Given the description of an element on the screen output the (x, y) to click on. 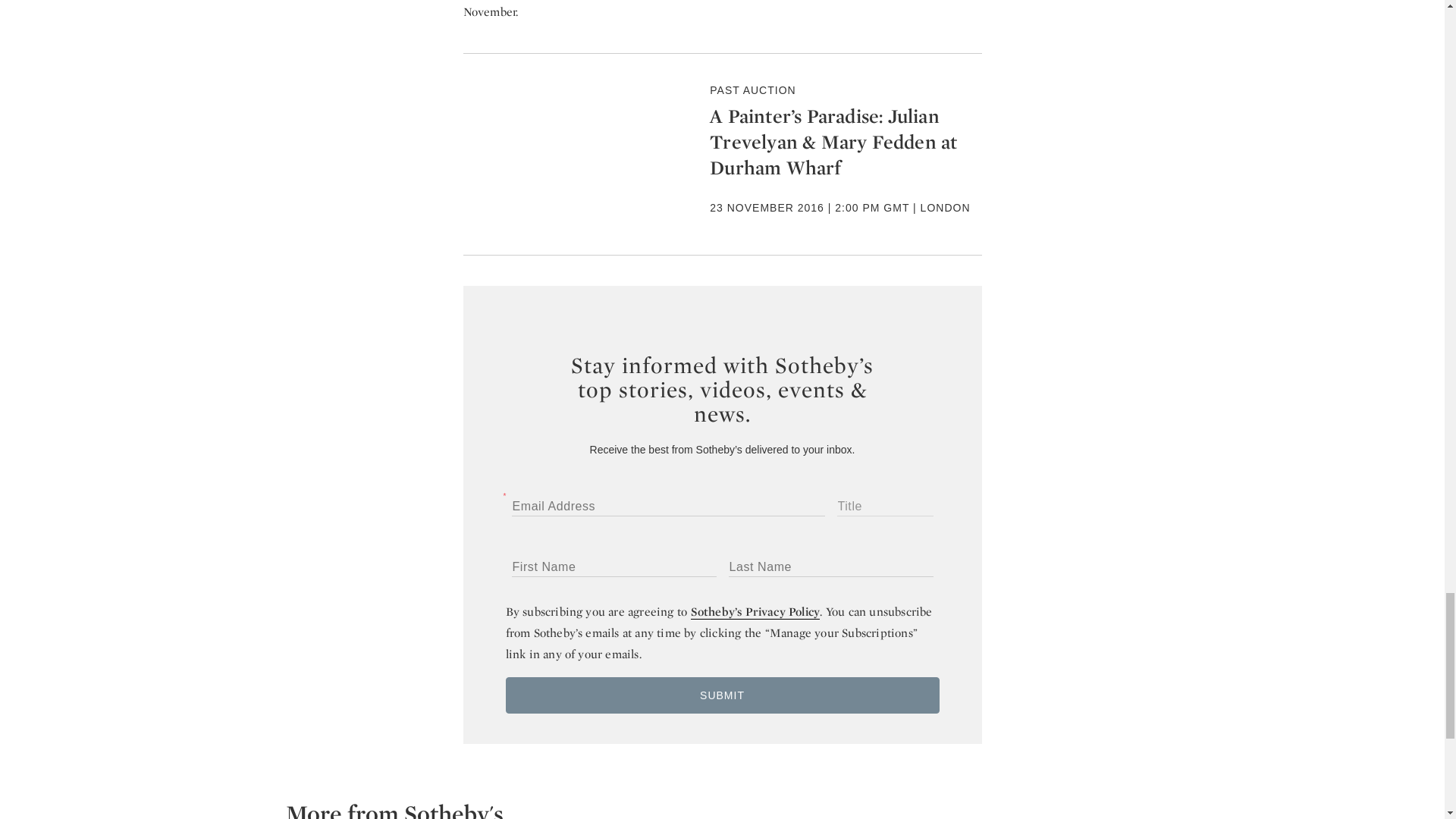
SUBMIT (722, 695)
